Given the description of an element on the screen output the (x, y) to click on. 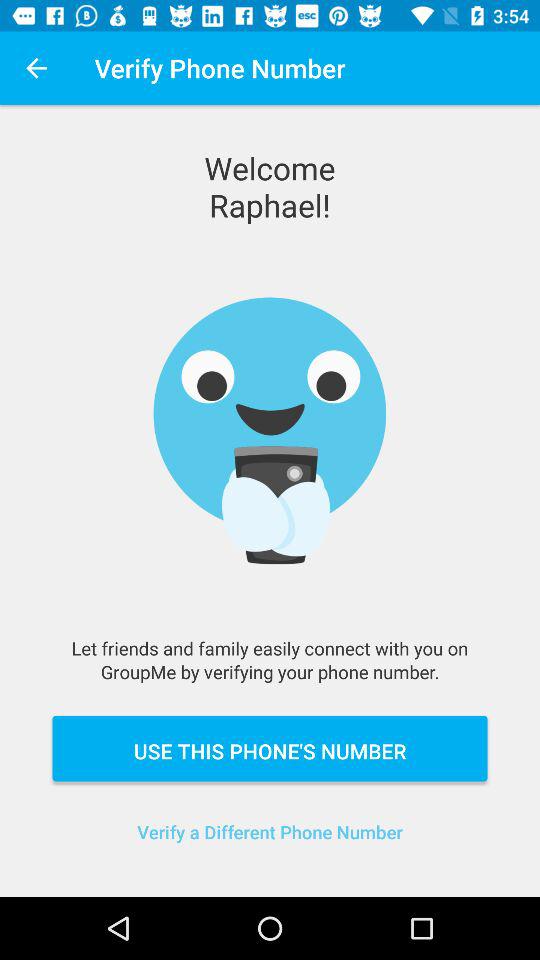
choose the item below the let friends and (269, 748)
